Given the description of an element on the screen output the (x, y) to click on. 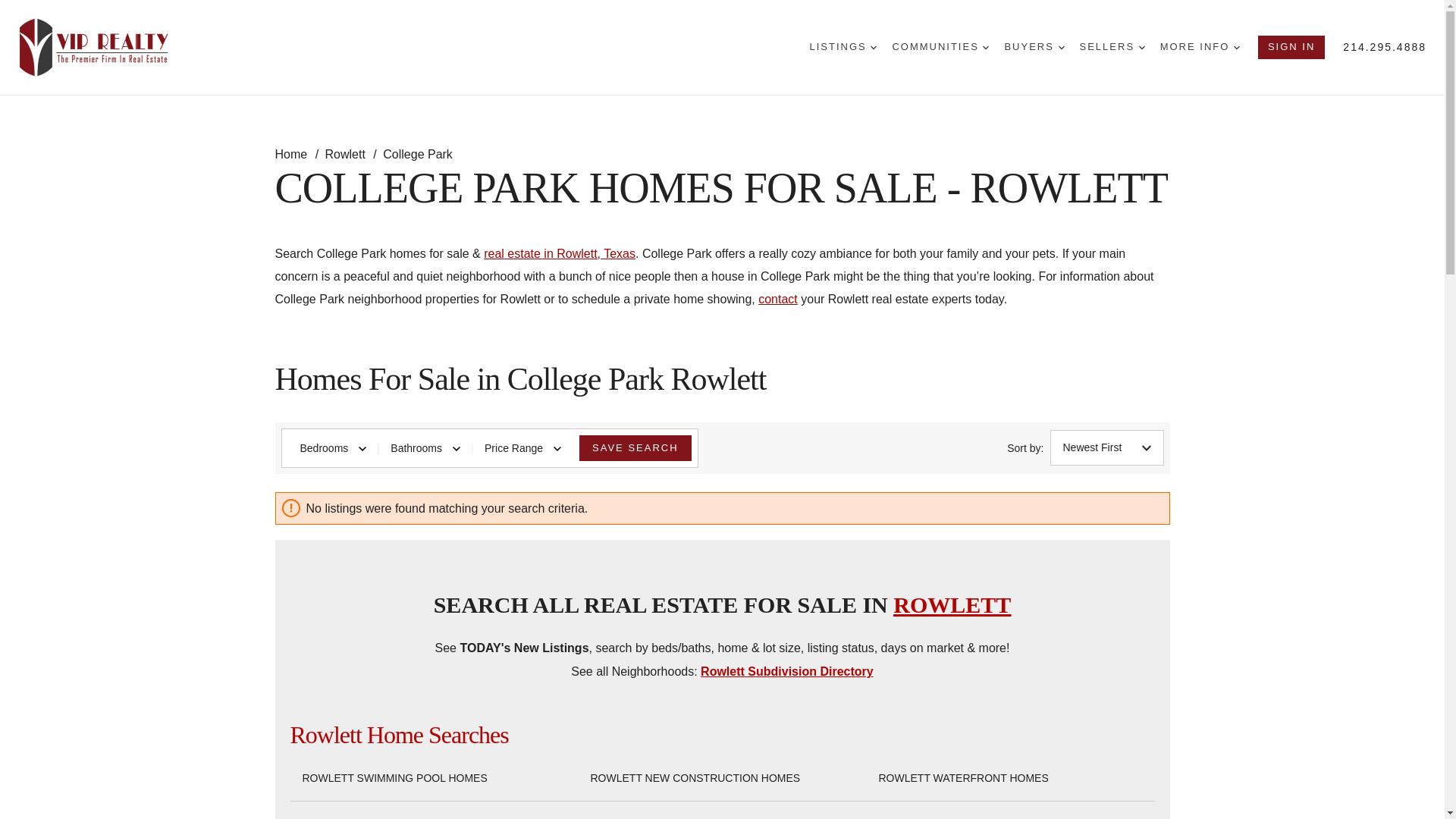
Rowlett Acreage Homes (663, 817)
COMMUNITIES DROPDOWN ARROW (939, 47)
Rowlett Swimming Pool Homes (393, 778)
DROPDOWN ARROW (873, 47)
DROPDOWN ARROW (1141, 47)
BUYERS DROPDOWN ARROW (1034, 47)
DROPDOWN ARROW (1061, 47)
DROPDOWN ARROW (1236, 47)
Rowlett Luxury Homes (947, 817)
DROPDOWN ARROW (985, 47)
